Given the description of an element on the screen output the (x, y) to click on. 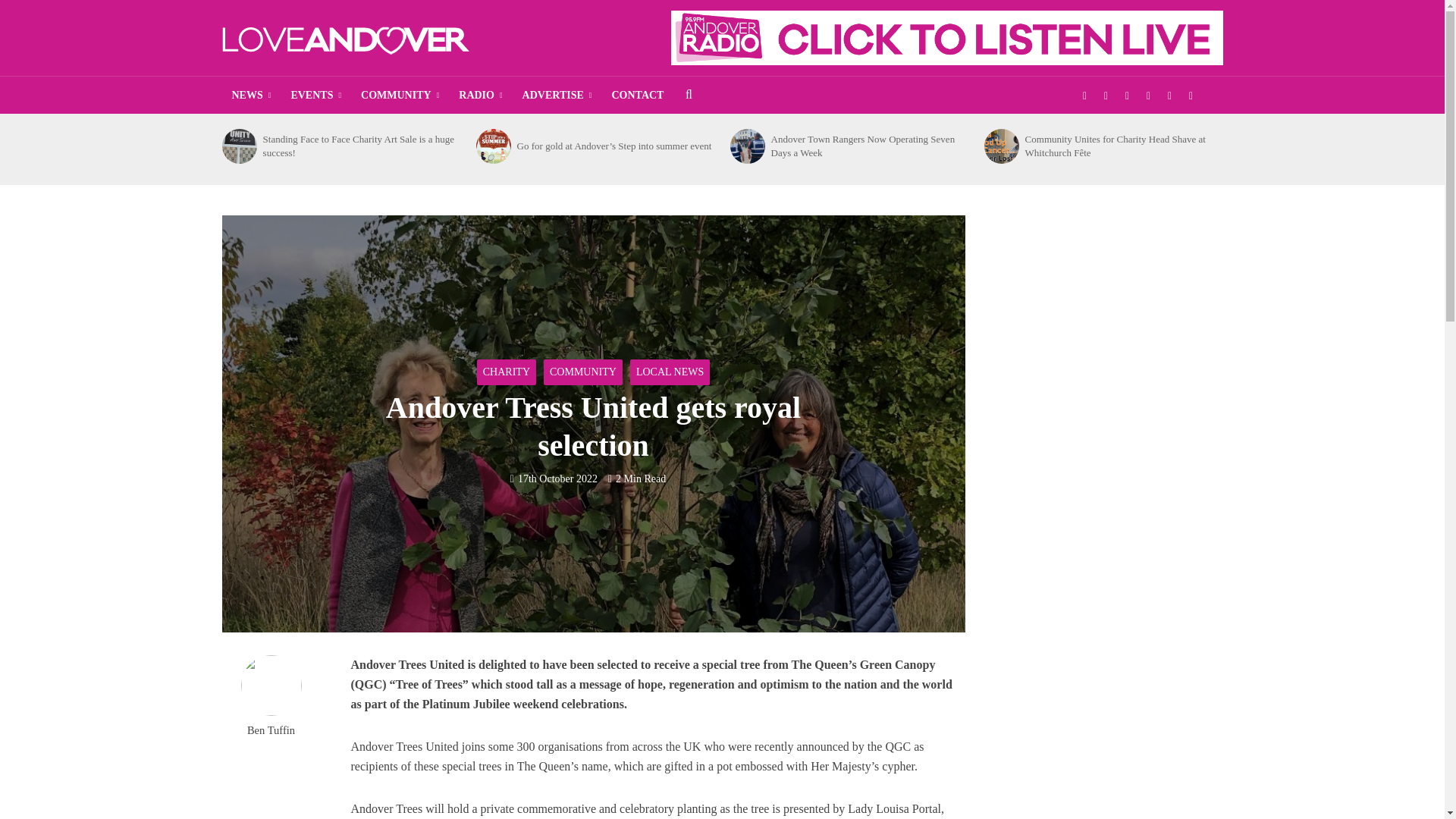
Standing Face to Face Charity Art Sale is a huge success! (237, 145)
Andover Town Rangers Now Operating Seven Days a Week (745, 145)
NEWS (251, 95)
COMMUNITY (399, 95)
ADVERTISE (557, 95)
RADIO (480, 95)
EVENTS (315, 95)
